Given the description of an element on the screen output the (x, y) to click on. 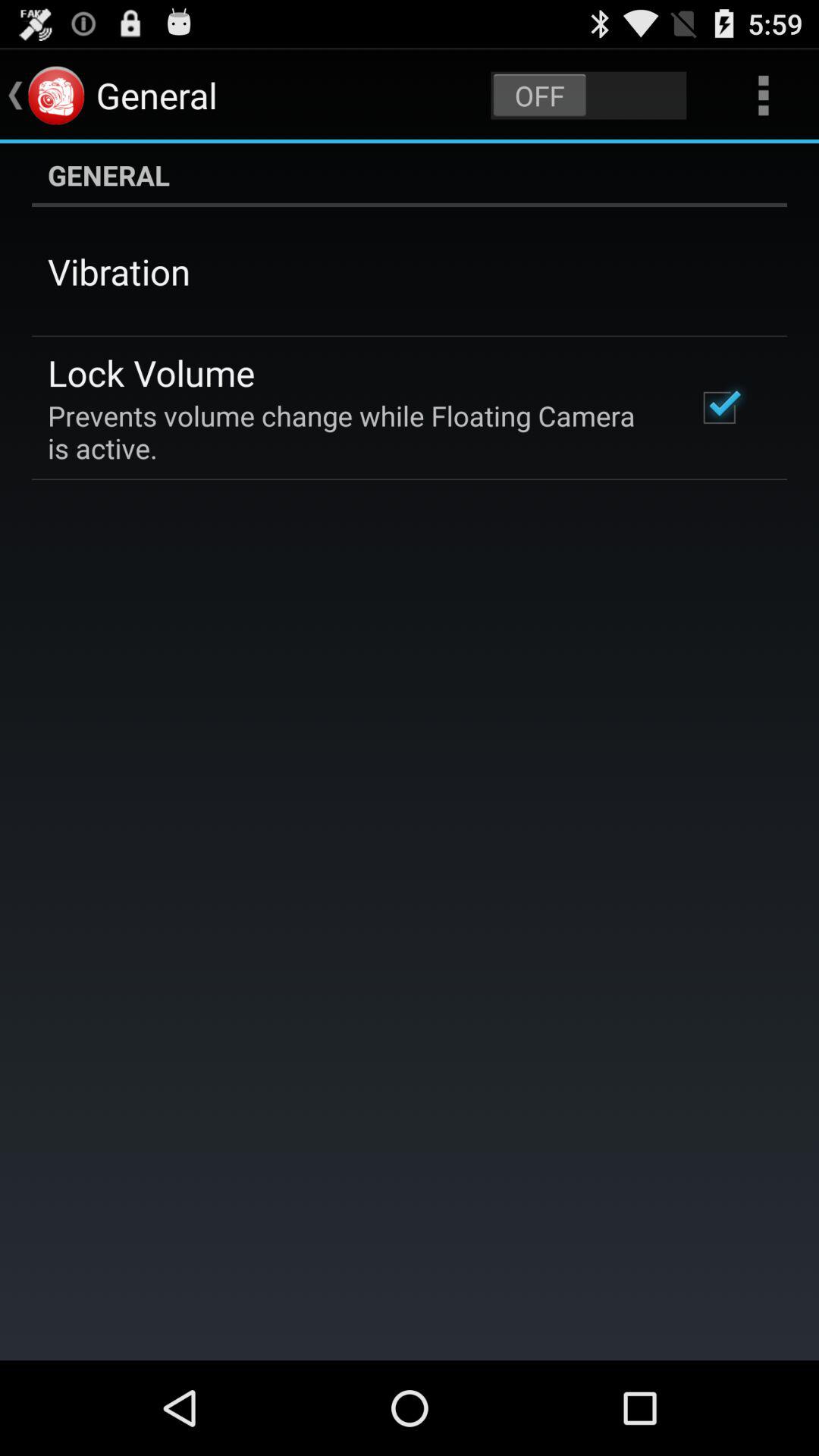
swipe until the prevents volume change icon (351, 431)
